Given the description of an element on the screen output the (x, y) to click on. 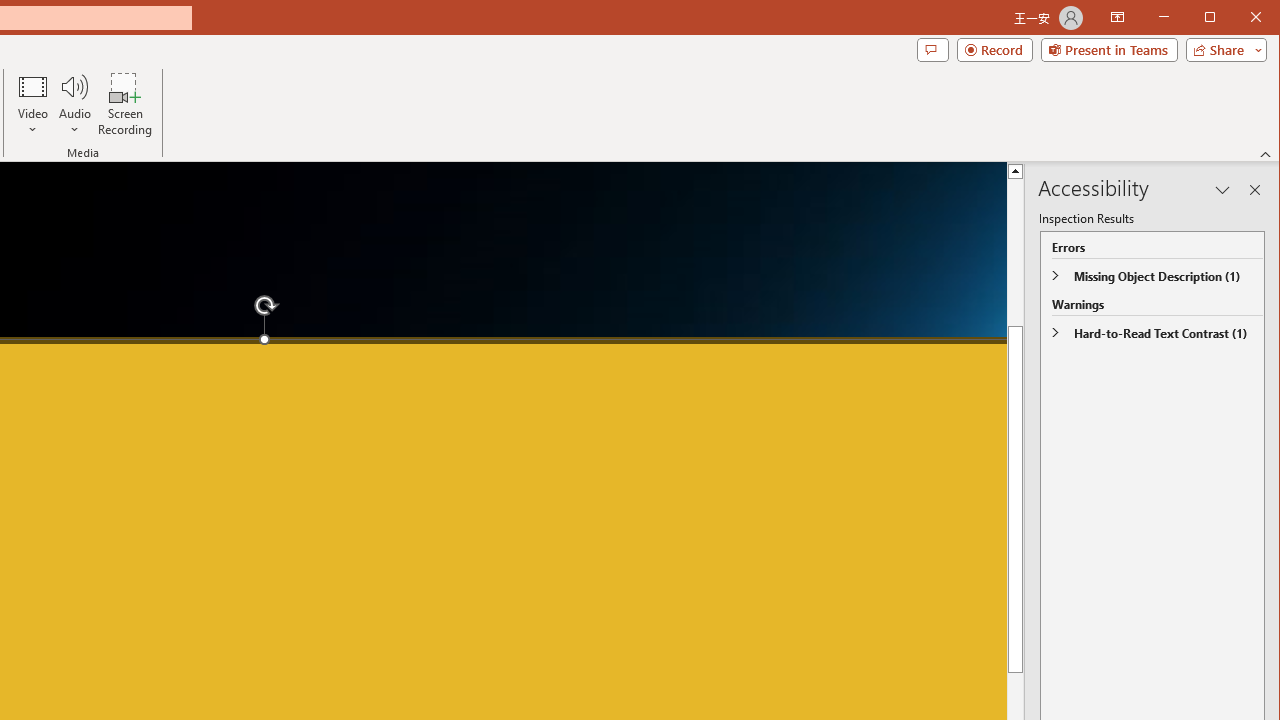
Page up (1015, 311)
Screen Recording... (125, 104)
